Given the description of an element on the screen output the (x, y) to click on. 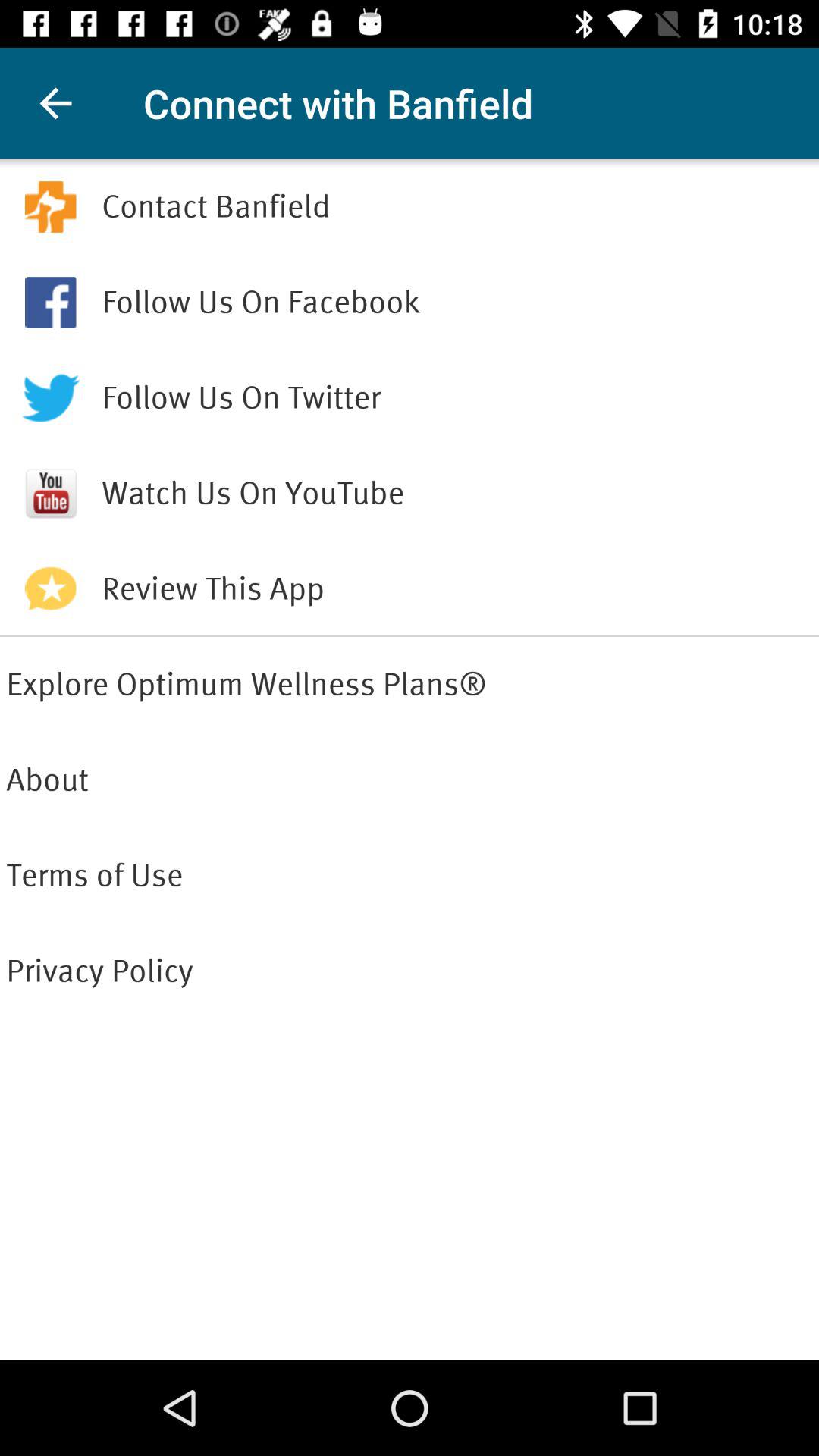
turn on icon below about (409, 875)
